Given the description of an element on the screen output the (x, y) to click on. 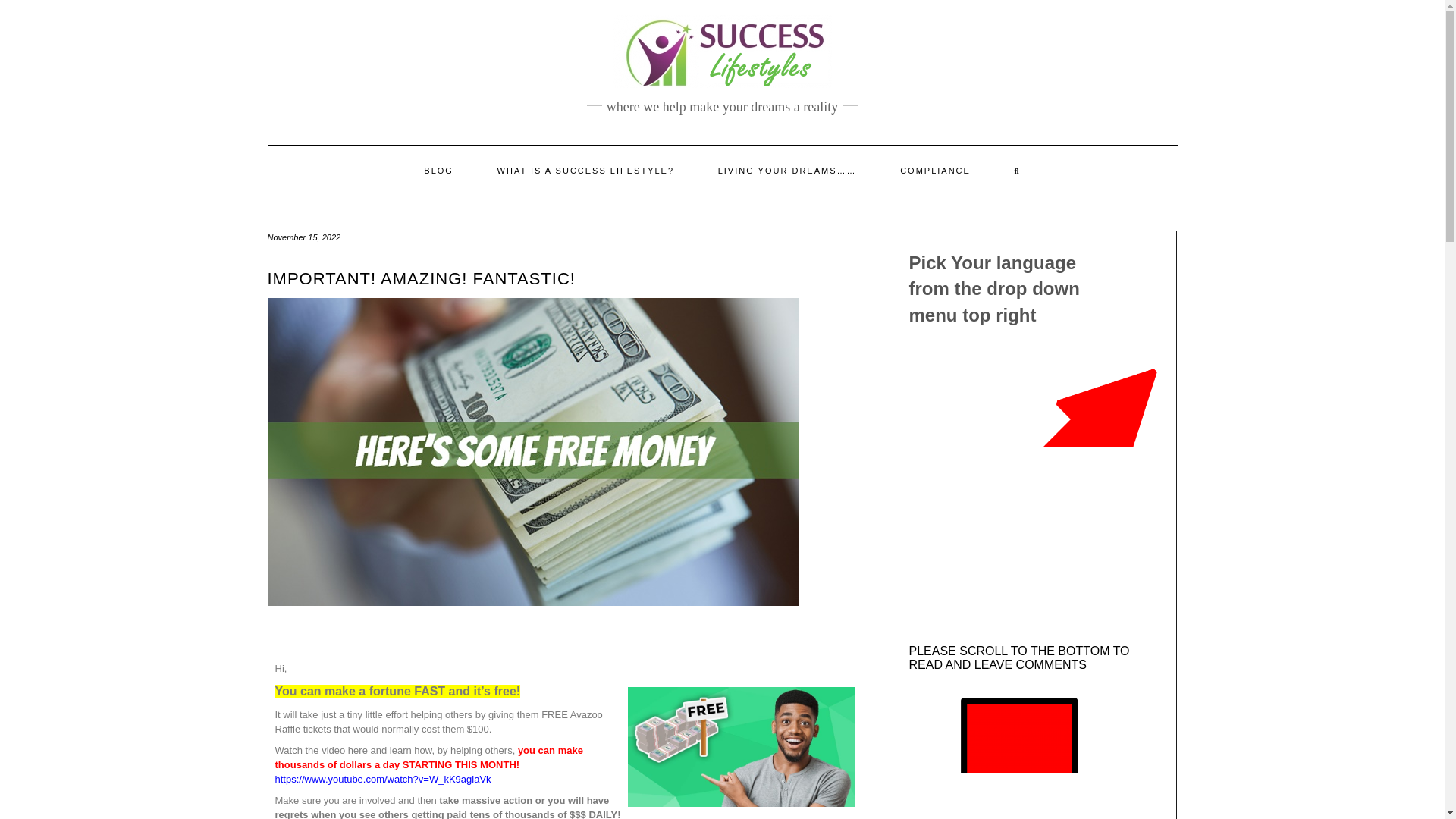
PLEASE SCROLL TO THE BOTTOM TO READ AND LEAVE COMMENTS (1018, 657)
BLOG (438, 170)
WHAT IS A SUCCESS LIFESTYLE? (585, 170)
COMPLIANCE (935, 170)
